Given the description of an element on the screen output the (x, y) to click on. 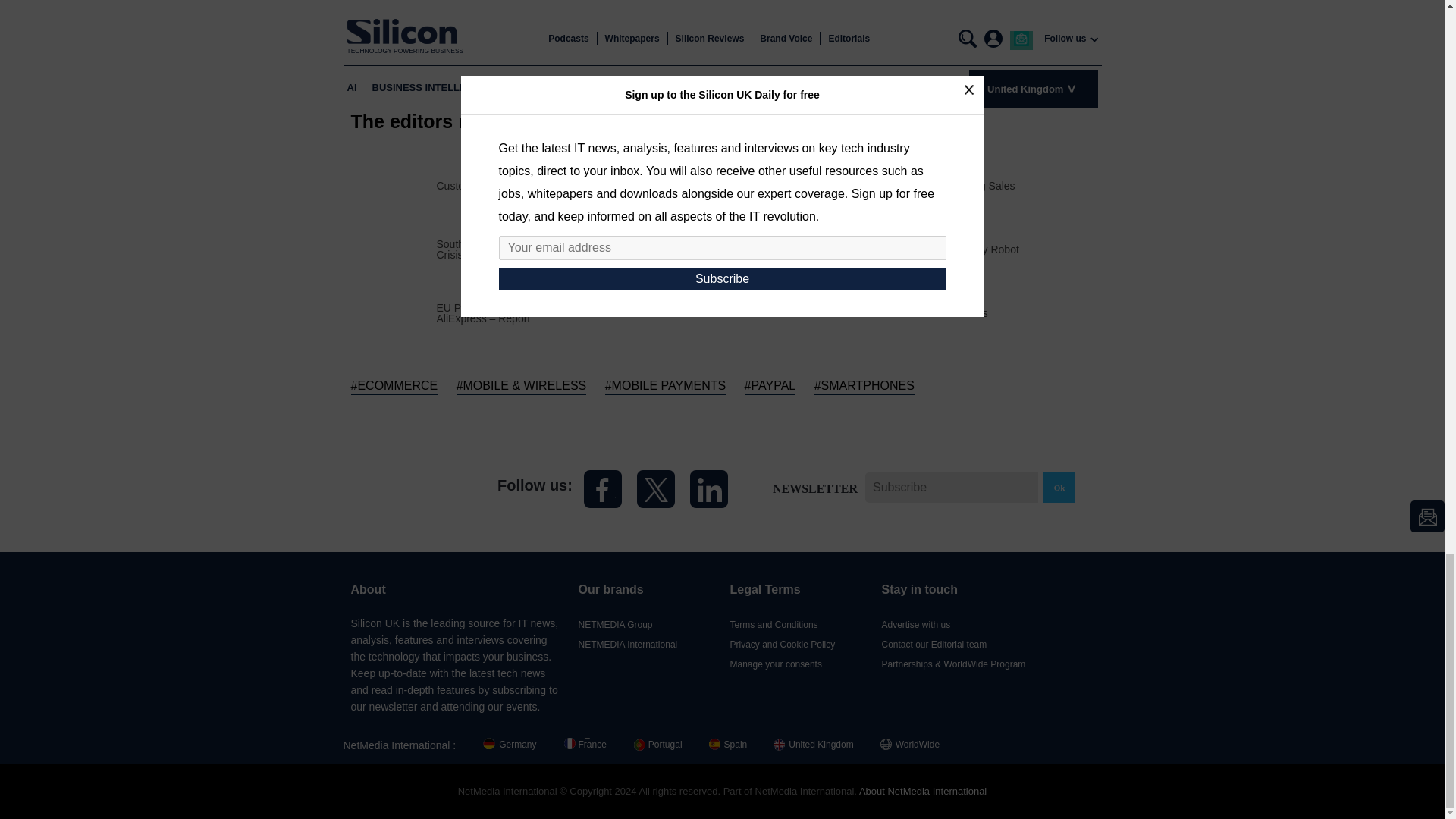
Microsoft Shutters China Retail Stores (898, 312)
Amazon Shares Plummet On Slowing Sales (911, 185)
Customers Flock To Shein South Africa Pop-Up Store (561, 185)
Amazon To Discontinue Astro Security Robot (913, 249)
